Given the description of an element on the screen output the (x, y) to click on. 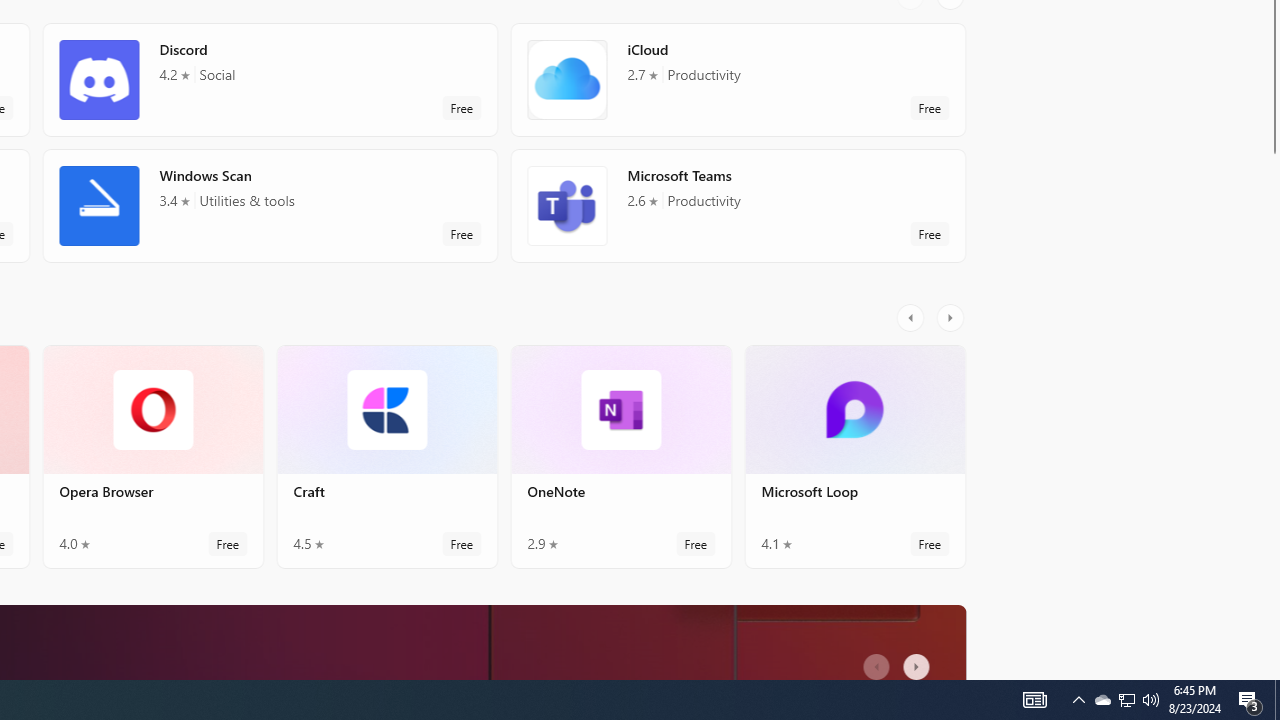
AutomationID: RightScrollButton (919, 659)
Vertical Large Increase (1272, 411)
iCloud. Average rating of 2.7 out of five stars. Free   (737, 79)
Vertical Small Increase (1272, 672)
AutomationID: LeftScrollButton (878, 659)
Discord. Average rating of 4.2 out of five stars. Free   (269, 79)
